Given the description of an element on the screen output the (x, y) to click on. 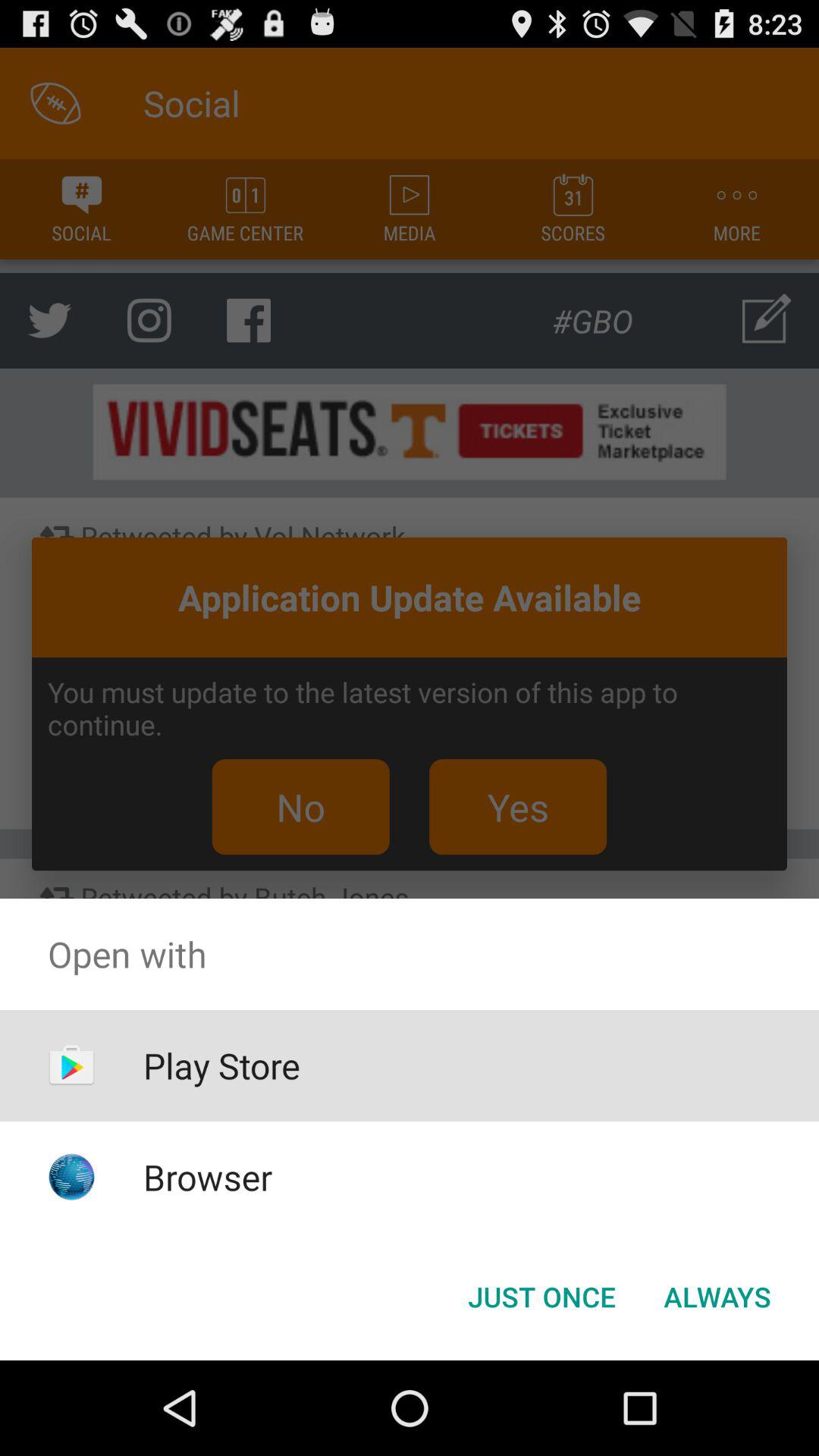
tap the icon at the bottom (541, 1296)
